Given the description of an element on the screen output the (x, y) to click on. 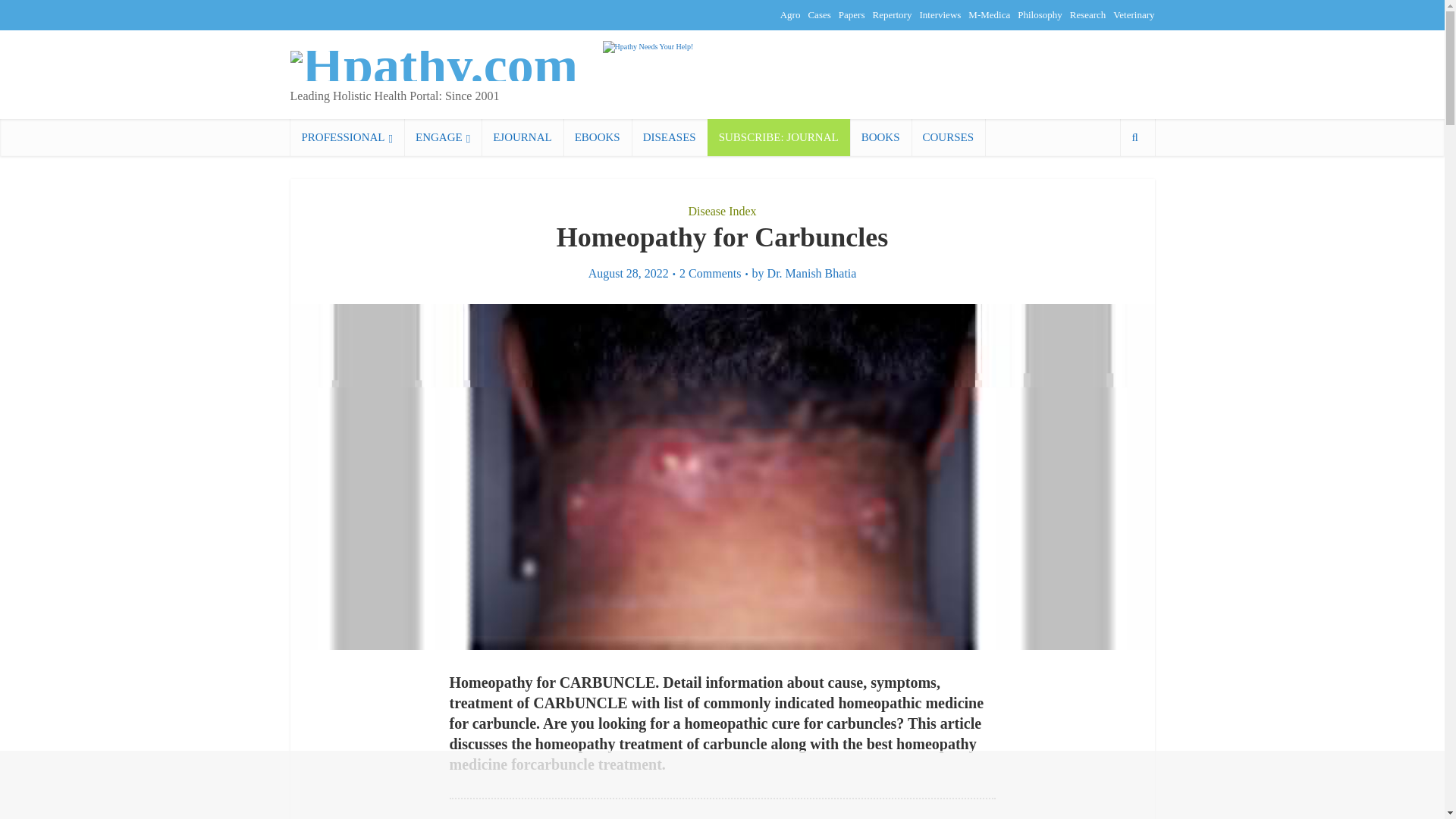
BOOKS (880, 137)
Cases (818, 14)
EJOURNAL (522, 137)
Agro (790, 14)
Interviews (939, 14)
M-Medica (989, 14)
Repertory (891, 14)
Research (1088, 14)
SUBSCRIBE: JOURNAL (778, 137)
PROFESSIONAL (346, 137)
